Given the description of an element on the screen output the (x, y) to click on. 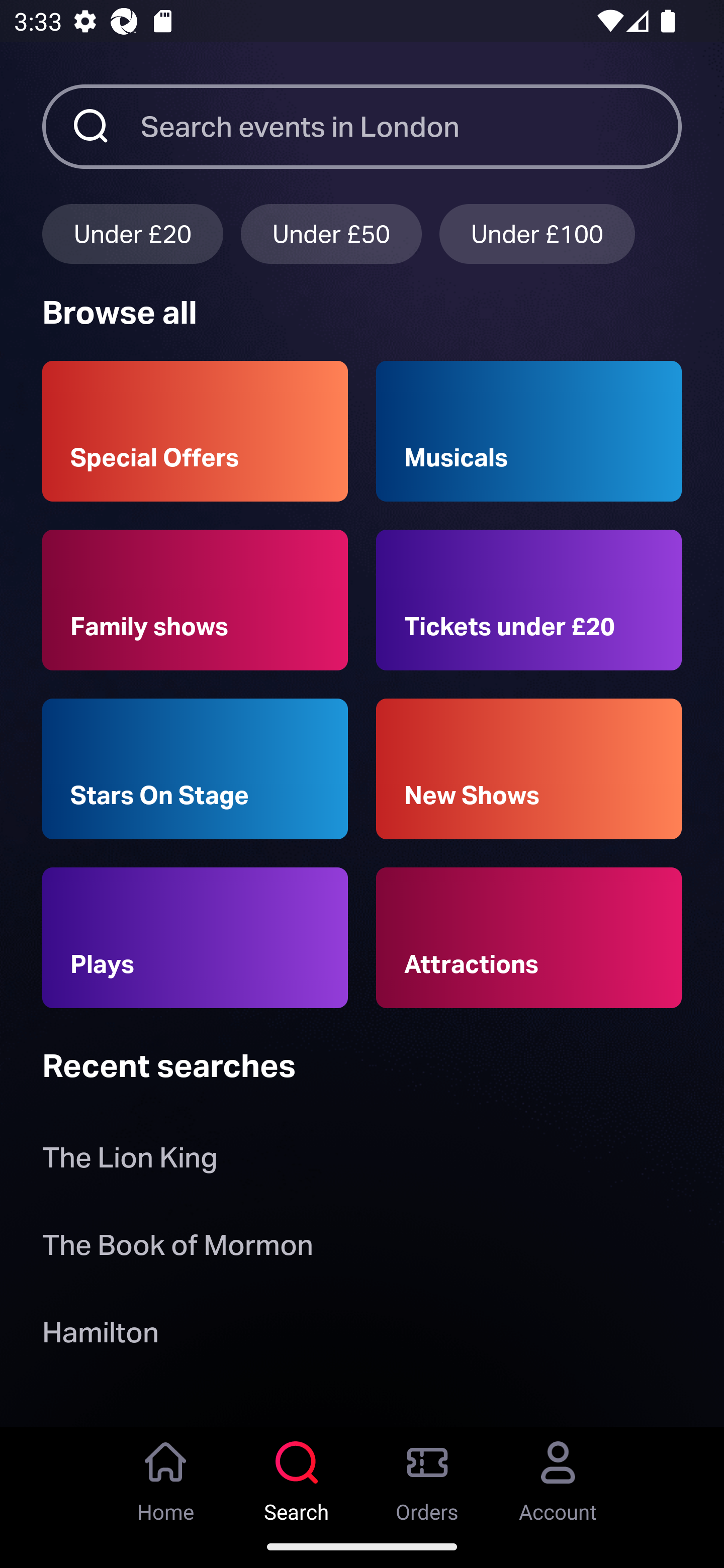
Search events in London (411, 126)
Under £20 (131, 233)
Under £50 (331, 233)
Under £100 (536, 233)
Special Offers (194, 430)
Musicals (528, 430)
Family shows (194, 600)
Tickets under £20  (528, 600)
Stars On Stage (194, 768)
New Shows (528, 768)
Plays (194, 937)
Attractions  (528, 937)
The Lion King (129, 1161)
The Book of Mormon (177, 1248)
Hamilton (99, 1335)
Home (165, 1475)
Orders (427, 1475)
Account (558, 1475)
